Given the description of an element on the screen output the (x, y) to click on. 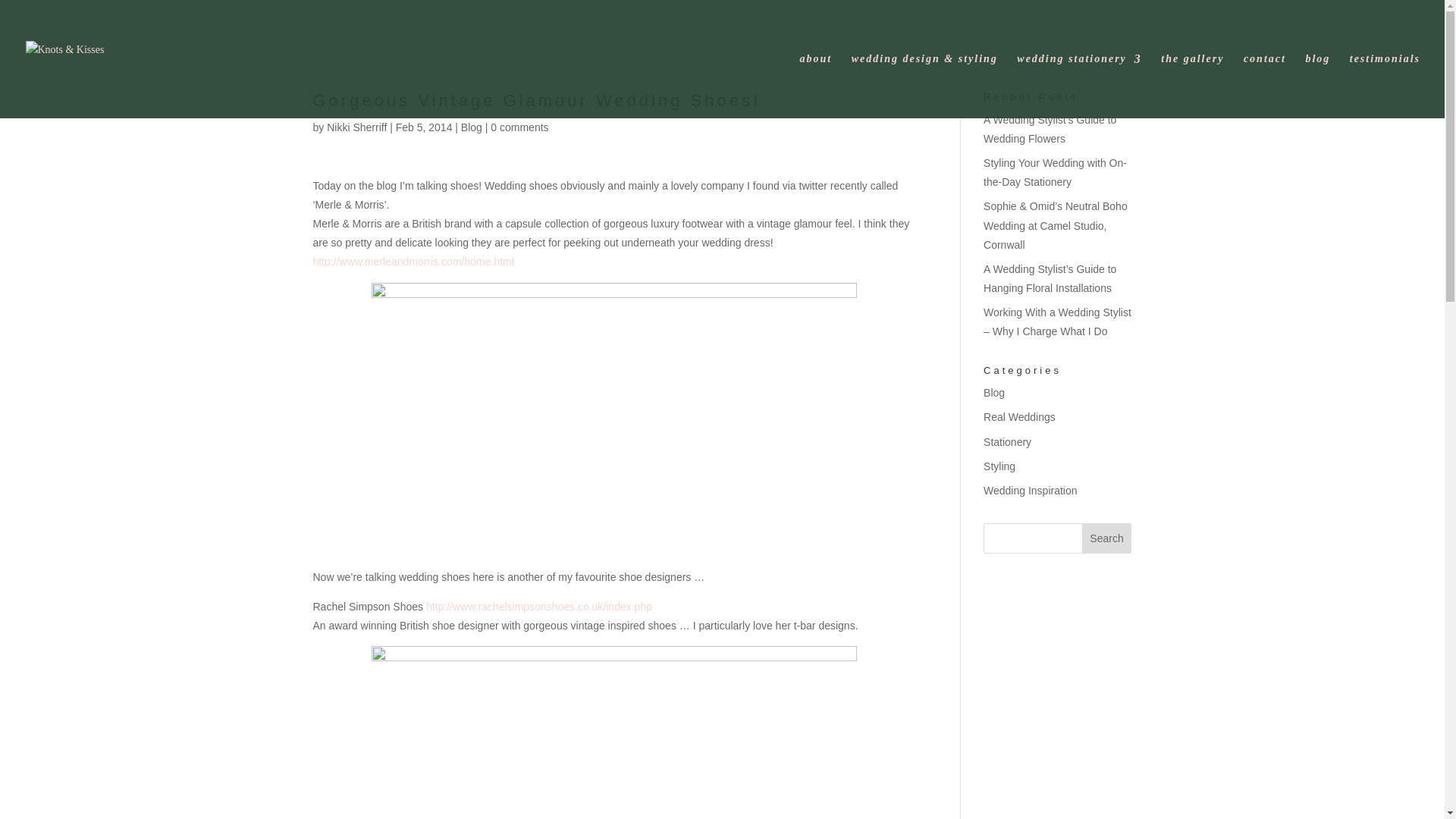
the gallery (1192, 85)
Styling (999, 466)
0 comments (519, 127)
Search (1106, 538)
wedding stationery (1078, 85)
Blog (994, 392)
testimonials (1385, 85)
Wedding Inspiration (1030, 490)
Nikki Sherriff (356, 127)
Styling Your Wedding with On-the-Day Stationery (1055, 172)
